Given the description of an element on the screen output the (x, y) to click on. 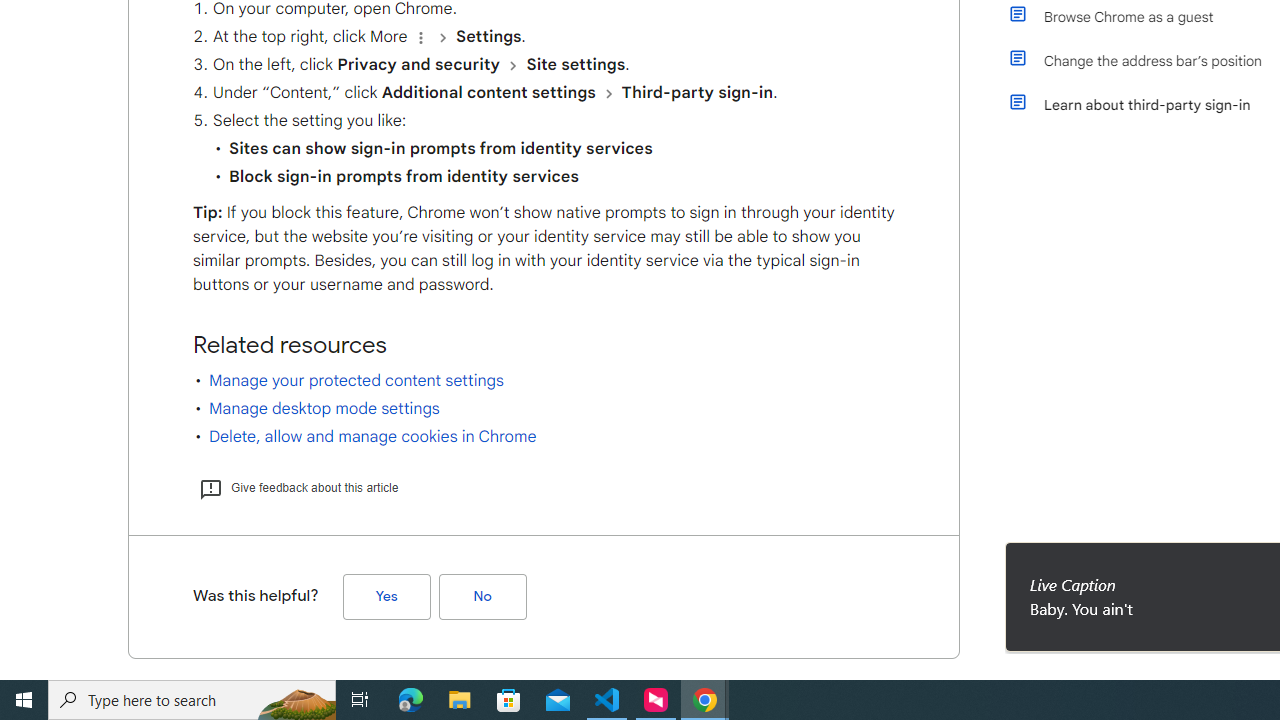
and then (608, 93)
Manage your protected content settings (356, 380)
Delete, allow and manage cookies in Chrome (372, 436)
Manage desktop mode settings (324, 408)
No (Was this helpful?) (482, 596)
Give feedback about this article (298, 487)
Yes (Was this helpful?) (386, 596)
Organize (420, 37)
